Given the description of an element on the screen output the (x, y) to click on. 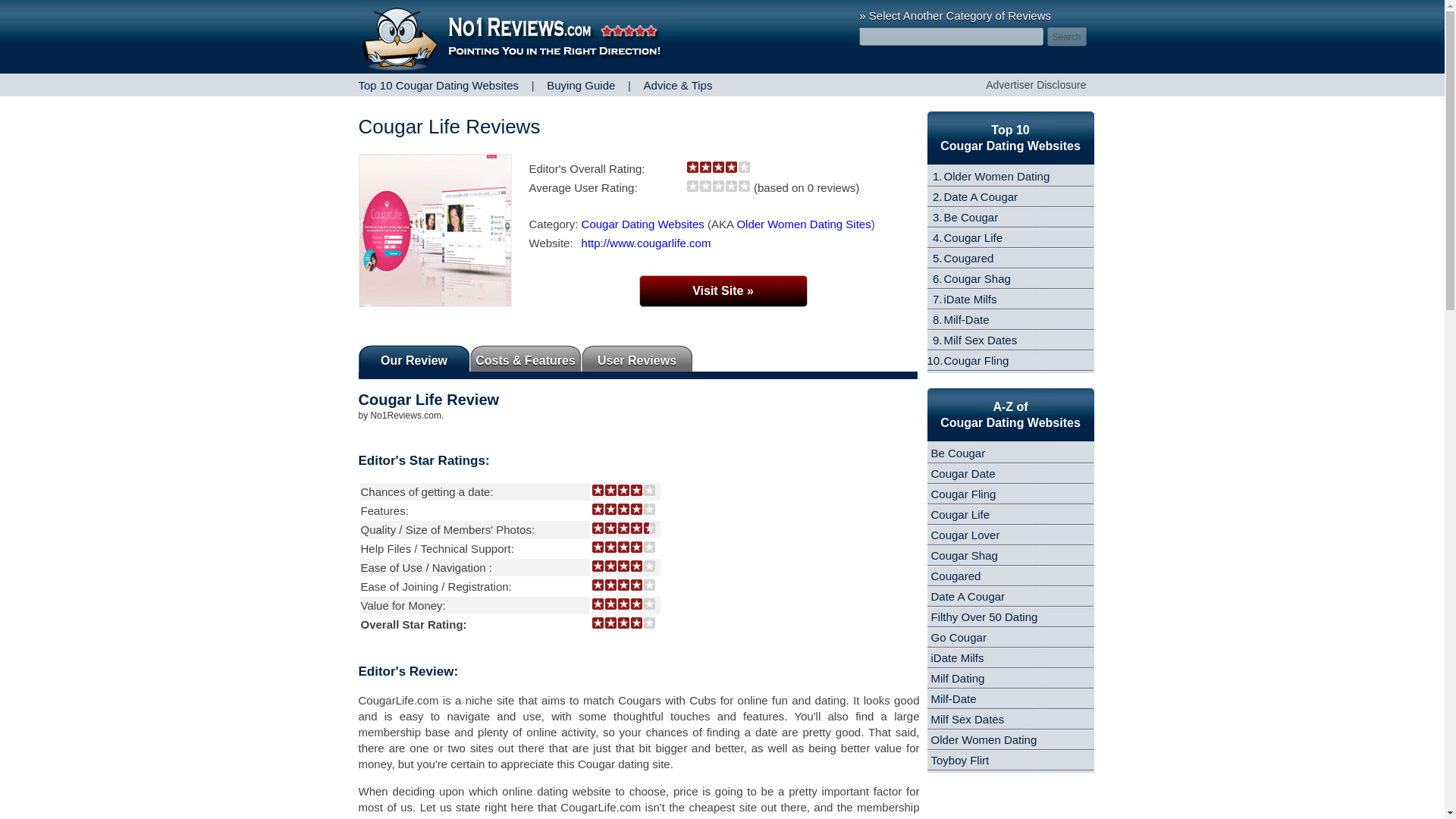
Milf Sex Dates (979, 339)
Visit CougarLife.com (722, 291)
Top 10 Cougar Dating Websites (438, 84)
Cougar Shag (976, 278)
Older Women Dating (996, 175)
Cougar Date (963, 472)
User Reviews (636, 357)
Cougared (967, 257)
Filthy Over 50 Dating (984, 616)
Cougar Lover (965, 534)
